Given the description of an element on the screen output the (x, y) to click on. 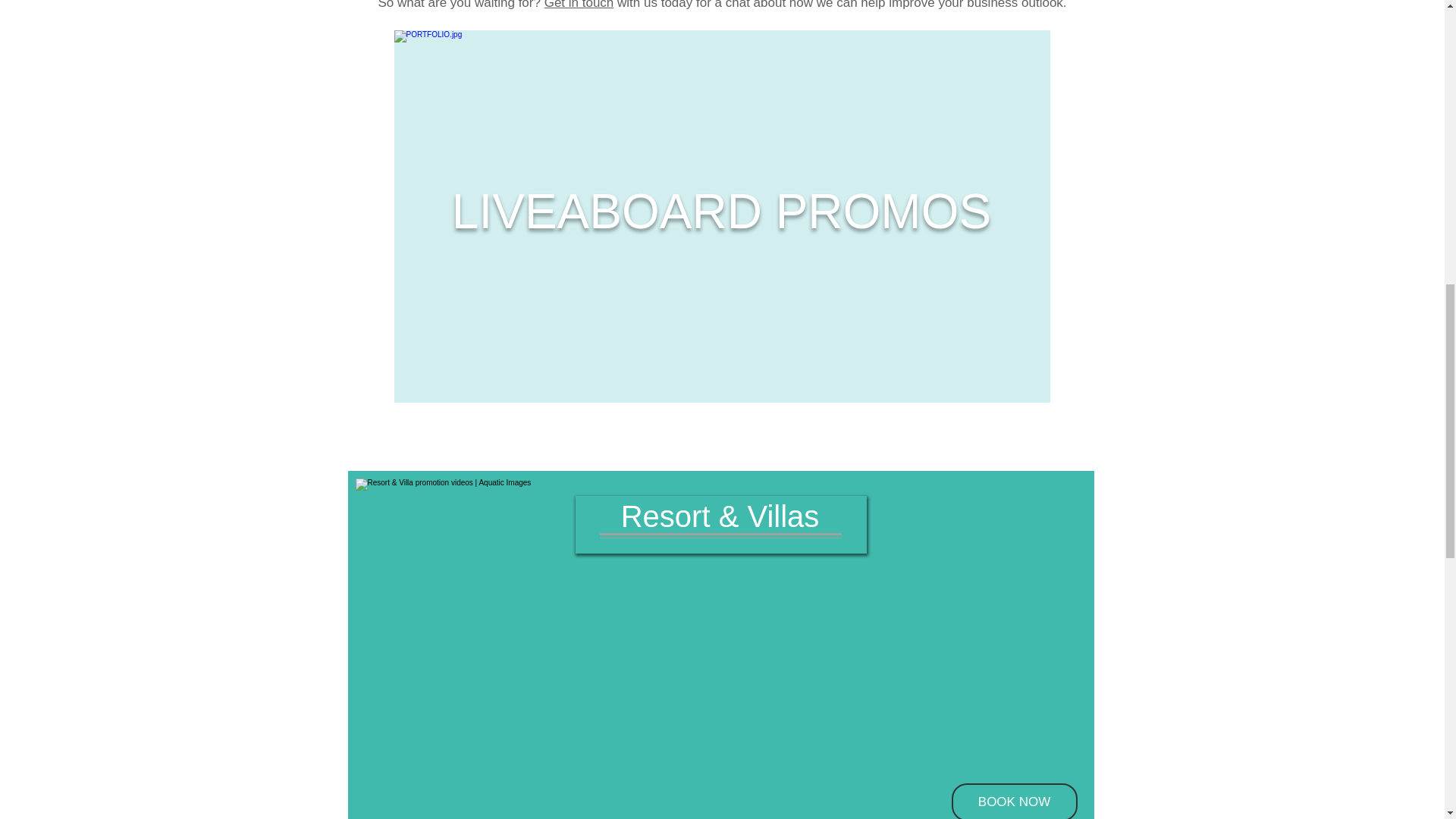
BOOK NOW (1013, 800)
Get in touch (579, 4)
LIVEABOARD PROMOS (721, 211)
